Given the description of an element on the screen output the (x, y) to click on. 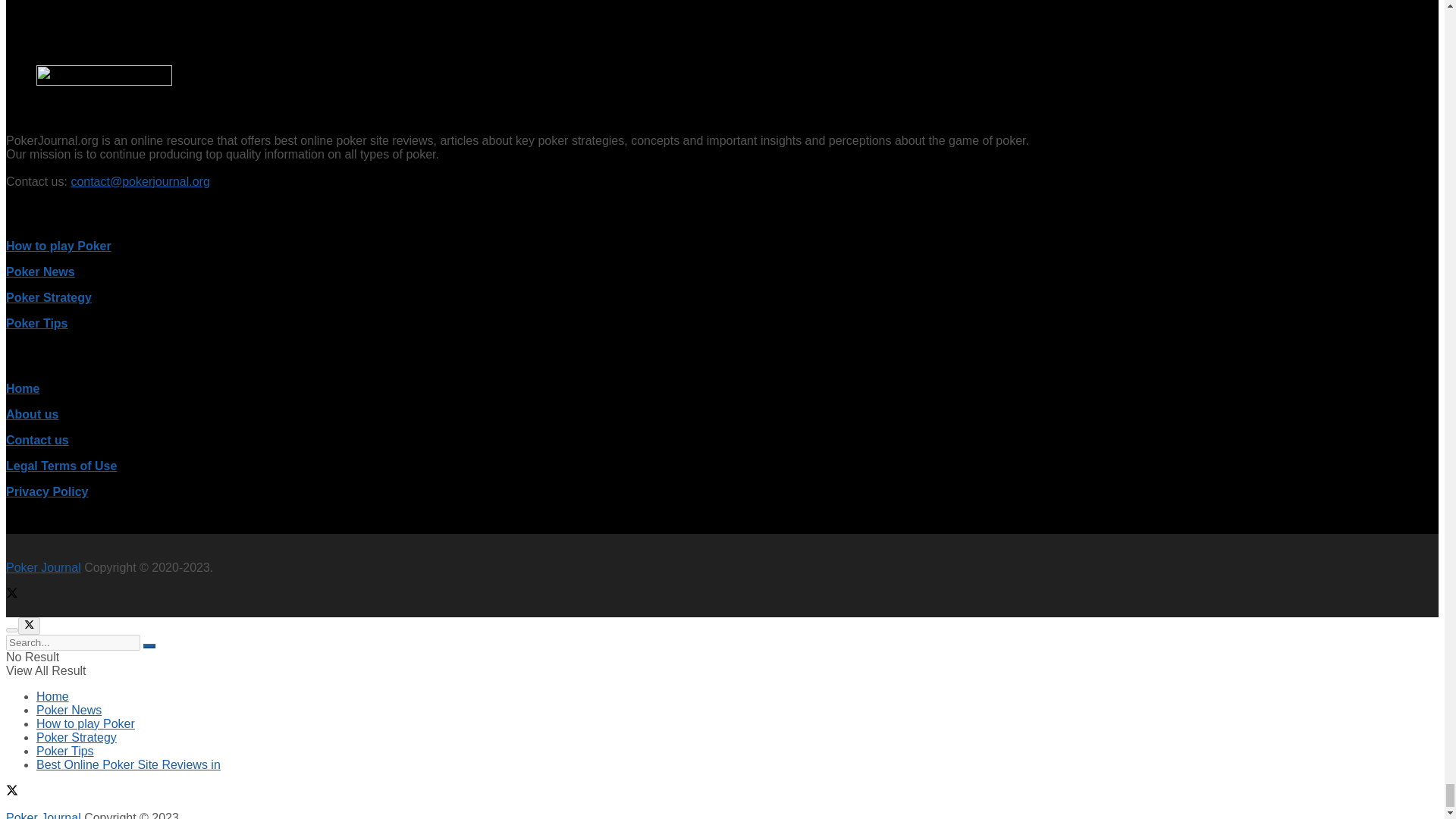
logo-mobile-dark-1 (103, 75)
